Given the description of an element on the screen output the (x, y) to click on. 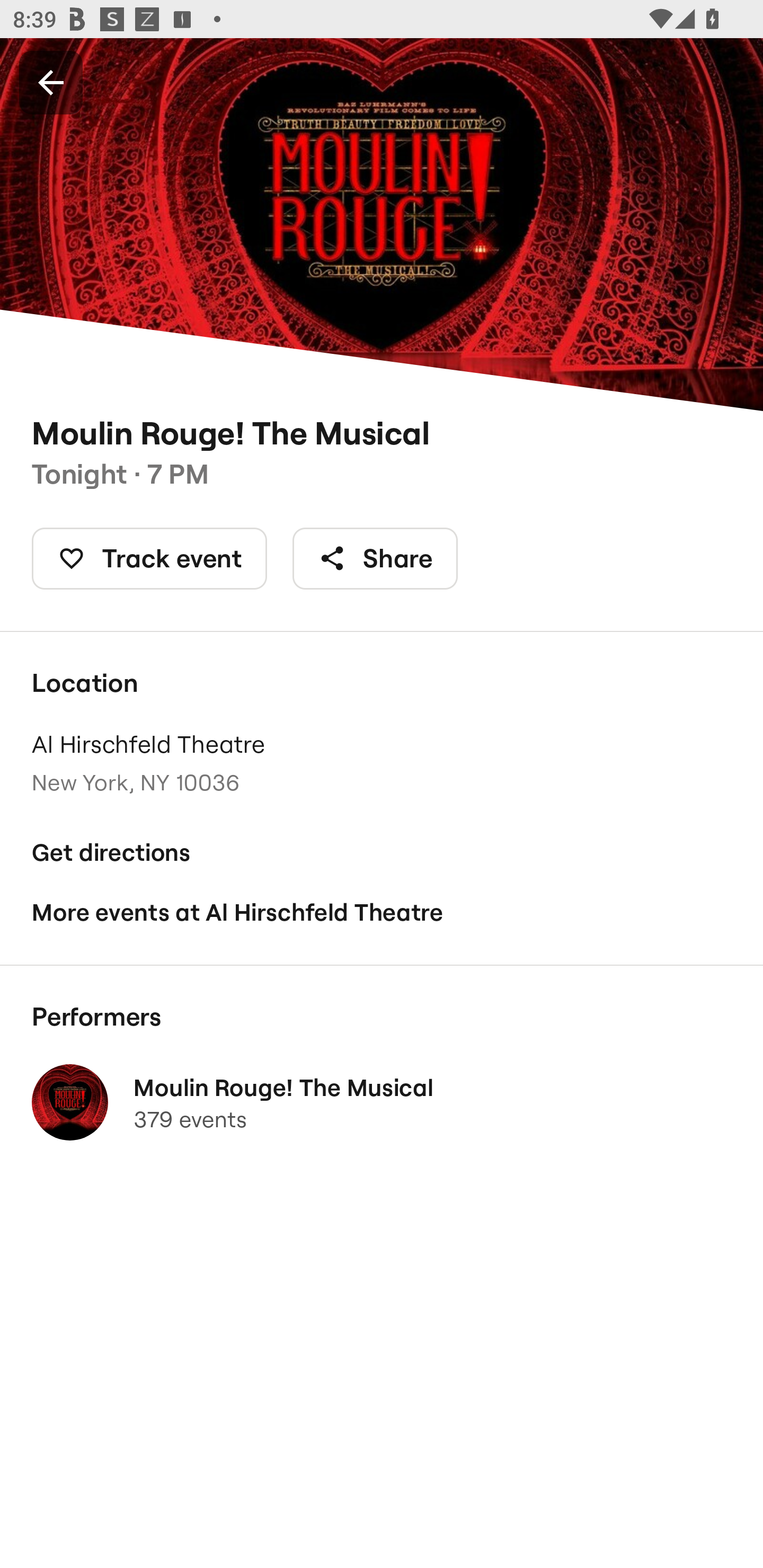
Back (50, 81)
Track event (149, 557)
Share (374, 557)
Get directions (381, 852)
More events at Al Hirschfeld Theatre (381, 912)
Moulin Rouge! The Musical 379 events (381, 1102)
